Given the description of an element on the screen output the (x, y) to click on. 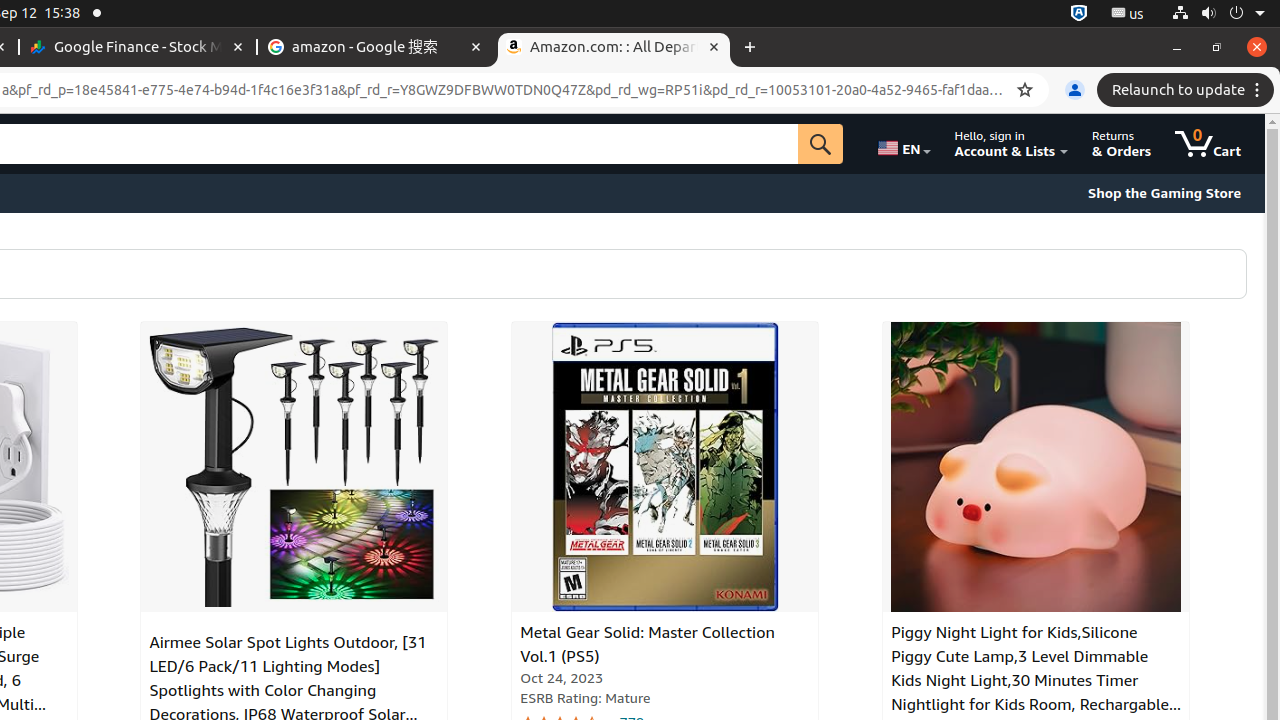
Amazon.com: : All Departments Element type: page-tab (614, 47)
Go Element type: push-button (821, 144)
System Element type: menu (1218, 13)
:1.72/StatusNotifierItem Element type: menu (1079, 13)
TeoTeeo Piggy Night Light for Kids,Silicone Piggy Cute Lamp,3 Level Dimmable Kids Night Light,30 Minutes Timer Nightlight ... Element type: link (1036, 467)
